Given the description of an element on the screen output the (x, y) to click on. 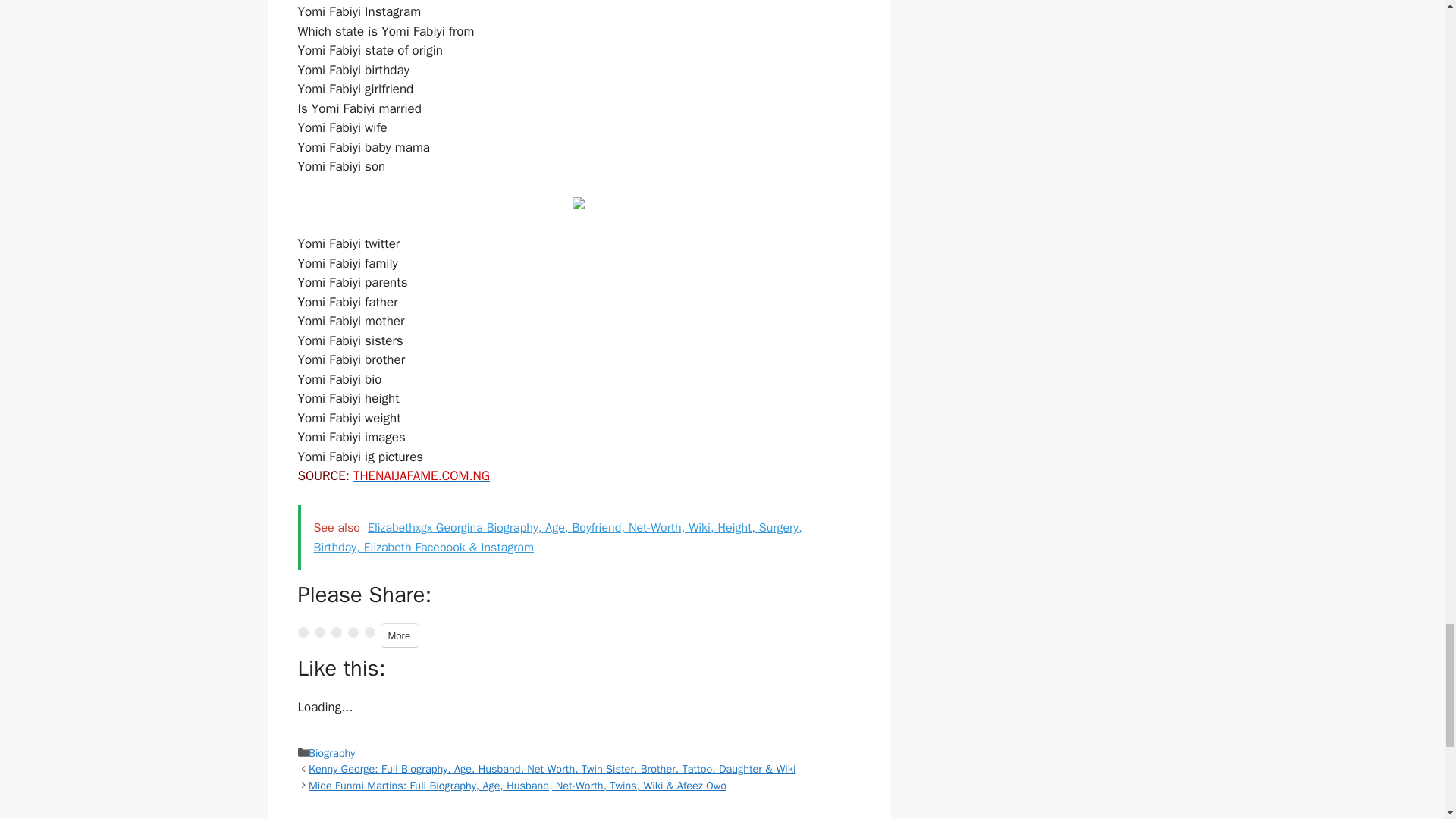
Click to share on Facebook (319, 632)
Click to share on Twitter (302, 632)
Biography (331, 753)
THENAIJAFAME.COM.NG (421, 475)
More (399, 635)
Click to share on WhatsApp (369, 632)
Click to share on Telegram (352, 632)
Click to share on Pinterest (335, 632)
